Given the description of an element on the screen output the (x, y) to click on. 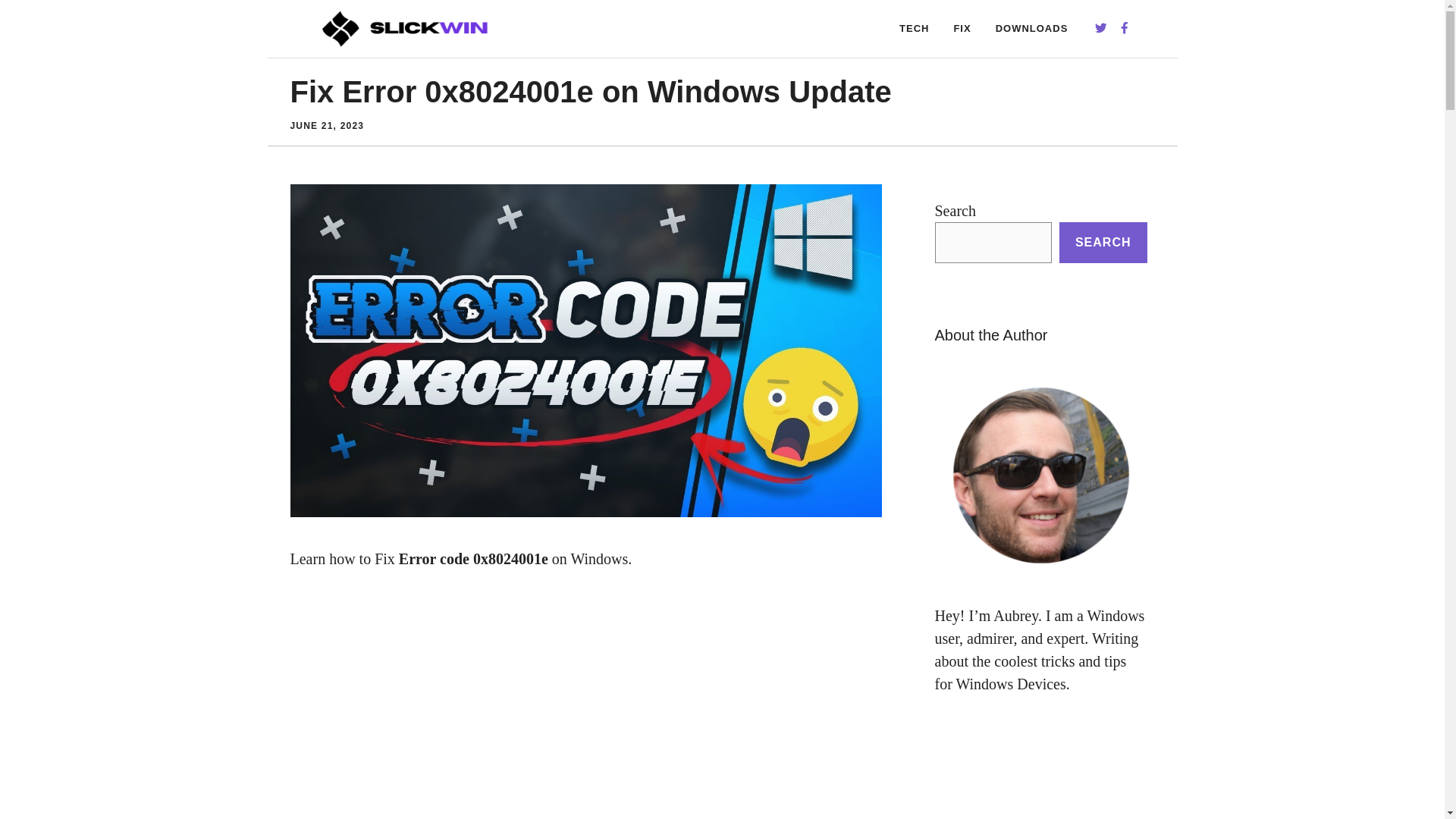
FIX (961, 28)
TECH (913, 28)
Advertisement (584, 717)
DOWNLOADS (1032, 28)
